Given the description of an element on the screen output the (x, y) to click on. 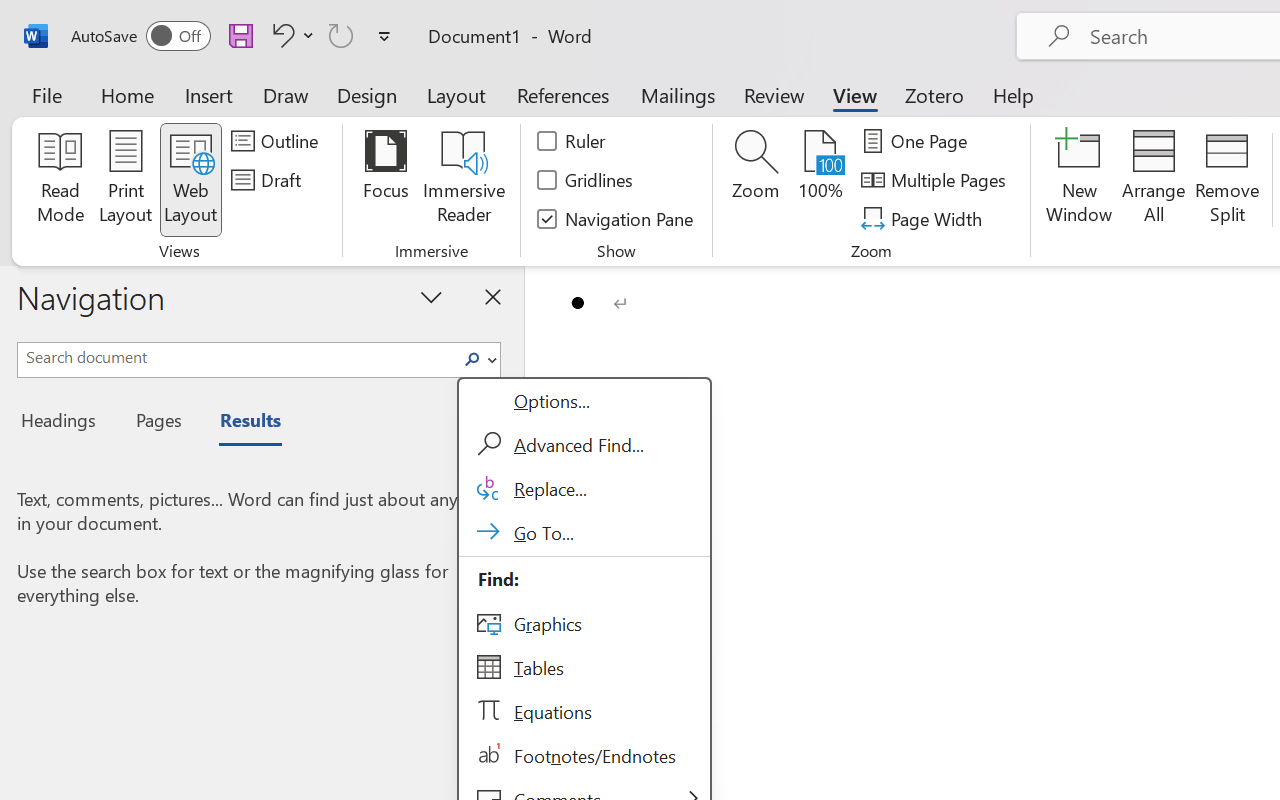
New Window (1079, 179)
Undo Bullet Default (280, 35)
